Given the description of an element on the screen output the (x, y) to click on. 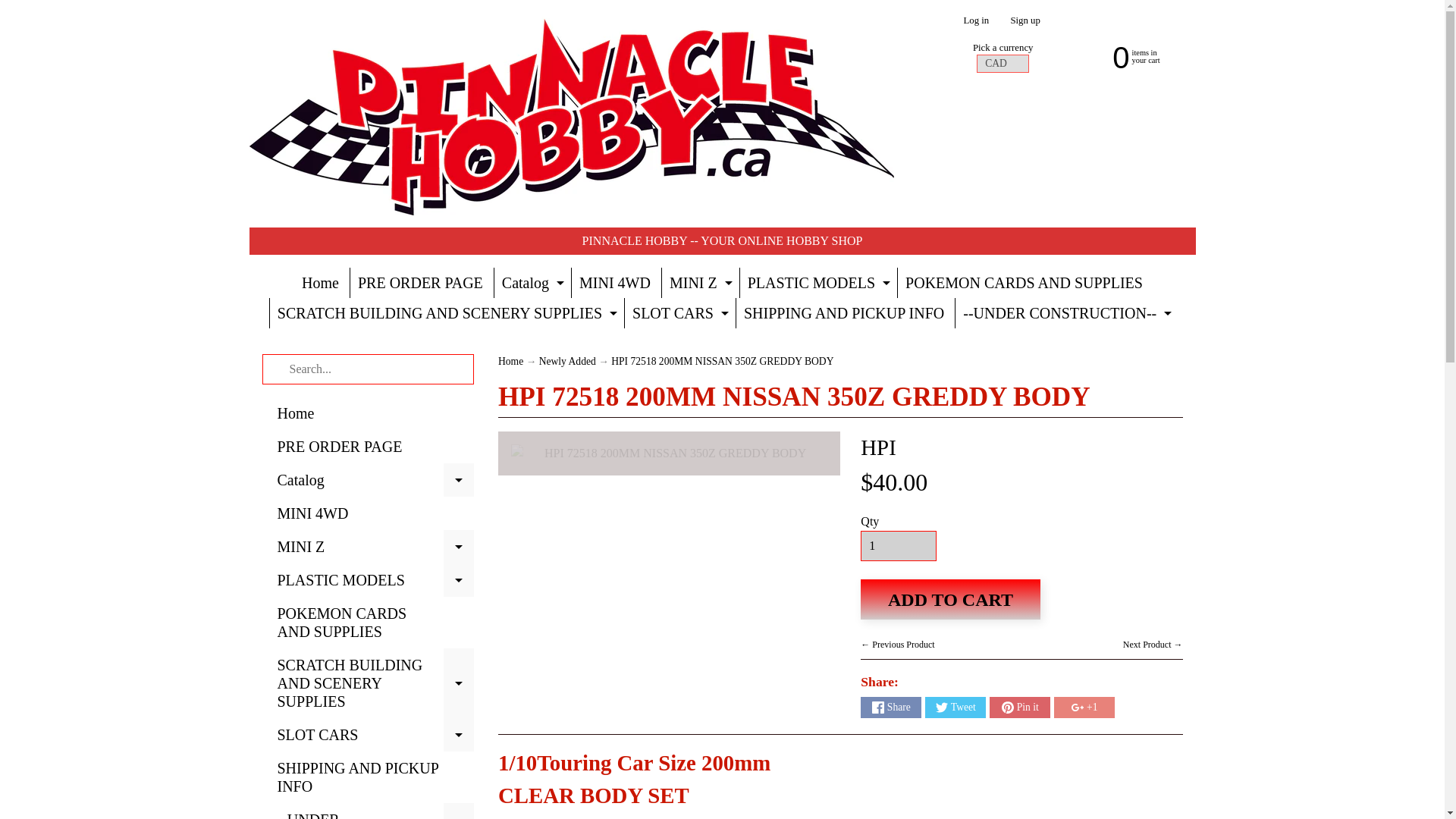
Tweet on Twitter (954, 707)
Back to the home page (509, 360)
PINNACLE HOBBY -- YOUR ONLINE HOBBY SHOP (722, 240)
Log in (975, 20)
Pinnacle Hobby (570, 113)
1 (898, 545)
Share on Facebook (890, 707)
Pin on Pinterest (1019, 707)
Home (320, 282)
